Given the description of an element on the screen output the (x, y) to click on. 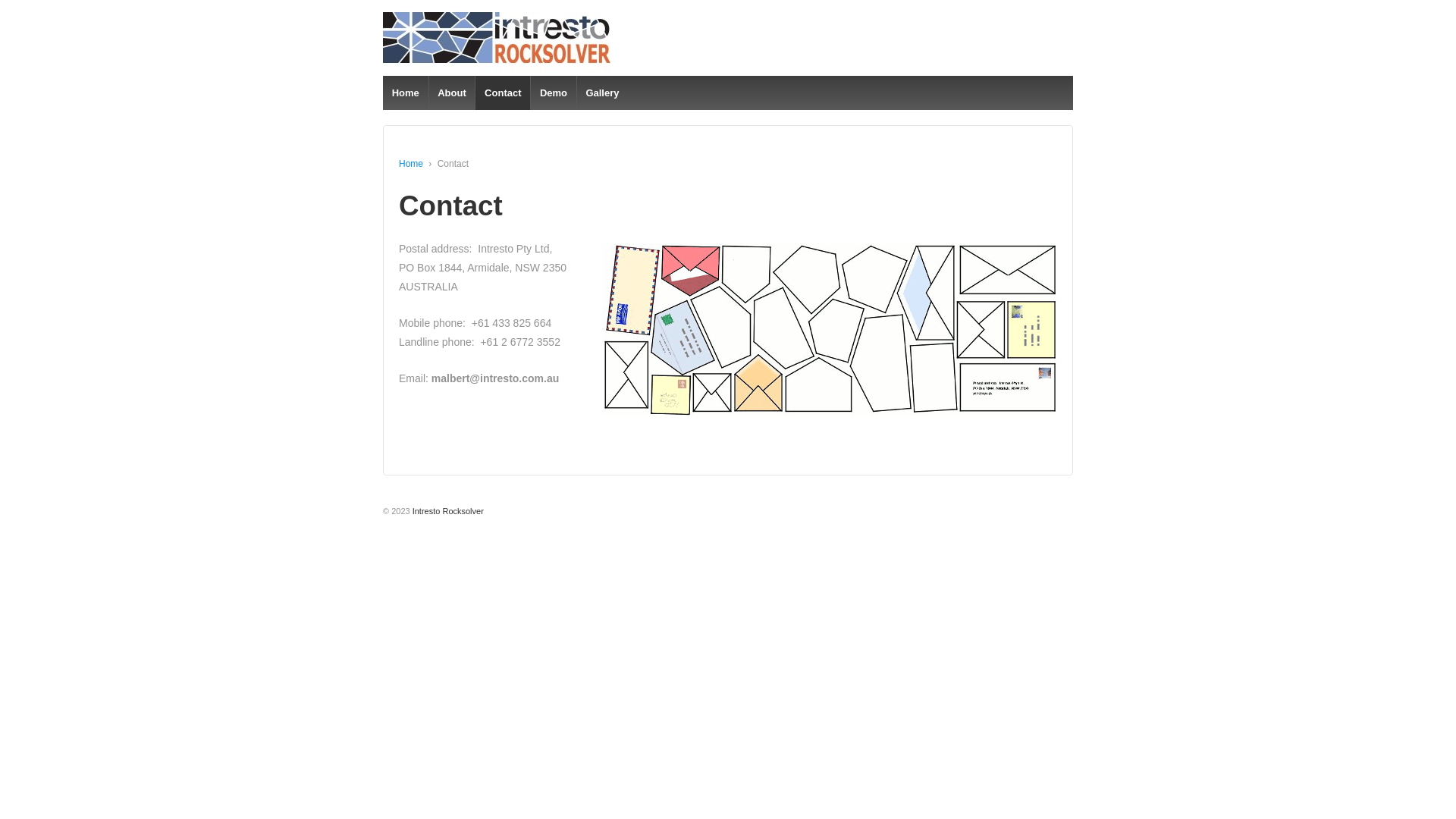
Home Element type: text (405, 92)
About Element type: text (450, 92)
Gallery Element type: text (601, 92)
Contact Element type: text (502, 92)
Demo Element type: text (553, 92)
Home Element type: text (410, 163)
Intresto Rocksolver Element type: text (446, 510)
